Given the description of an element on the screen output the (x, y) to click on. 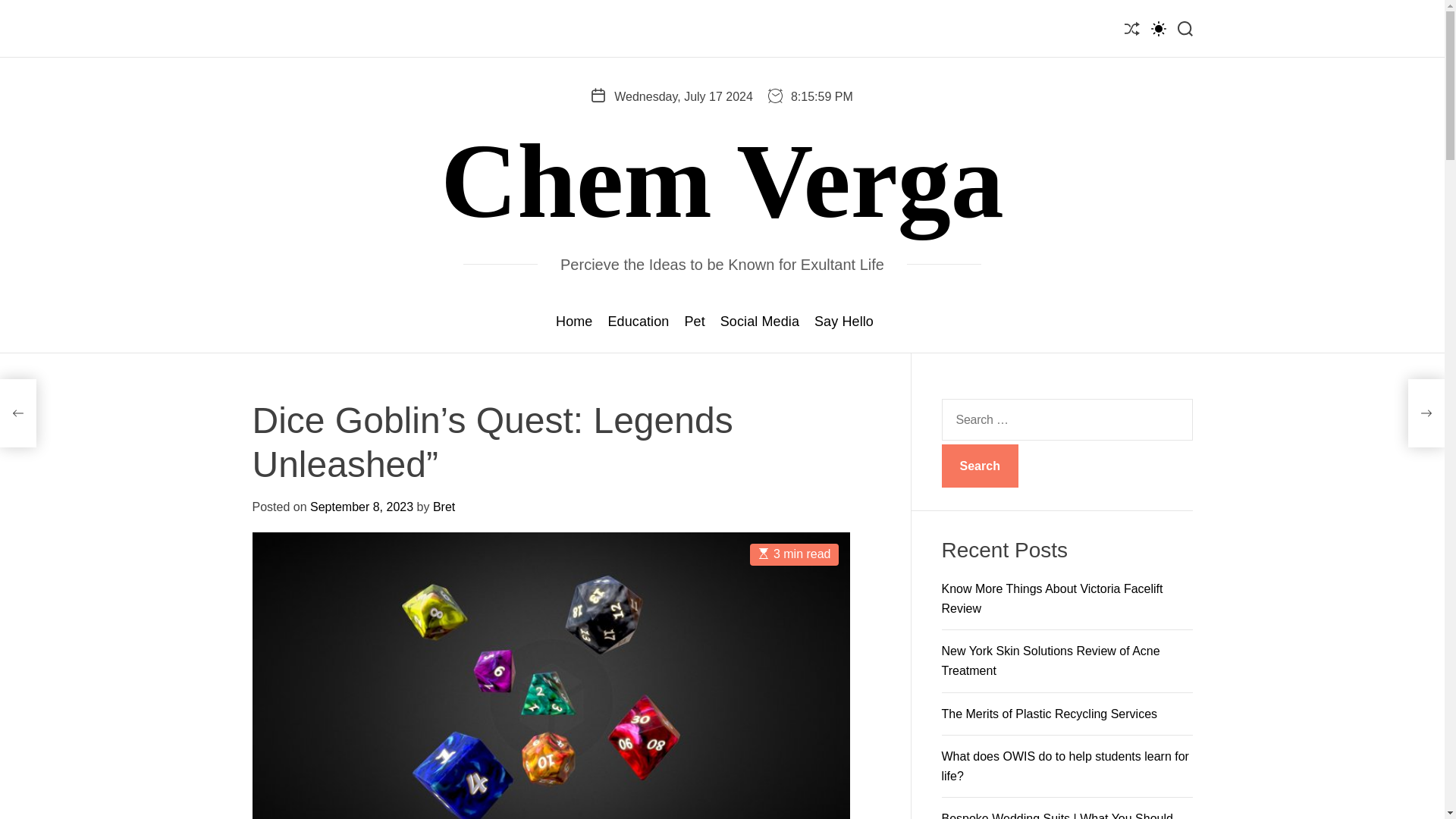
The Merits of Plastic Recycling Services (1049, 713)
Home (574, 322)
Know More Things About Victoria Facelift Review (1052, 598)
Search (979, 465)
Search (979, 465)
Social Media (759, 322)
Education (637, 322)
September 8, 2023 (361, 506)
Search (979, 465)
Chem Verga (722, 180)
Bret (443, 506)
Say Hello (843, 322)
What does OWIS do to help students learn for life? (1065, 766)
New York Skin Solutions Review of Acne Treatment (1051, 660)
